Given the description of an element on the screen output the (x, y) to click on. 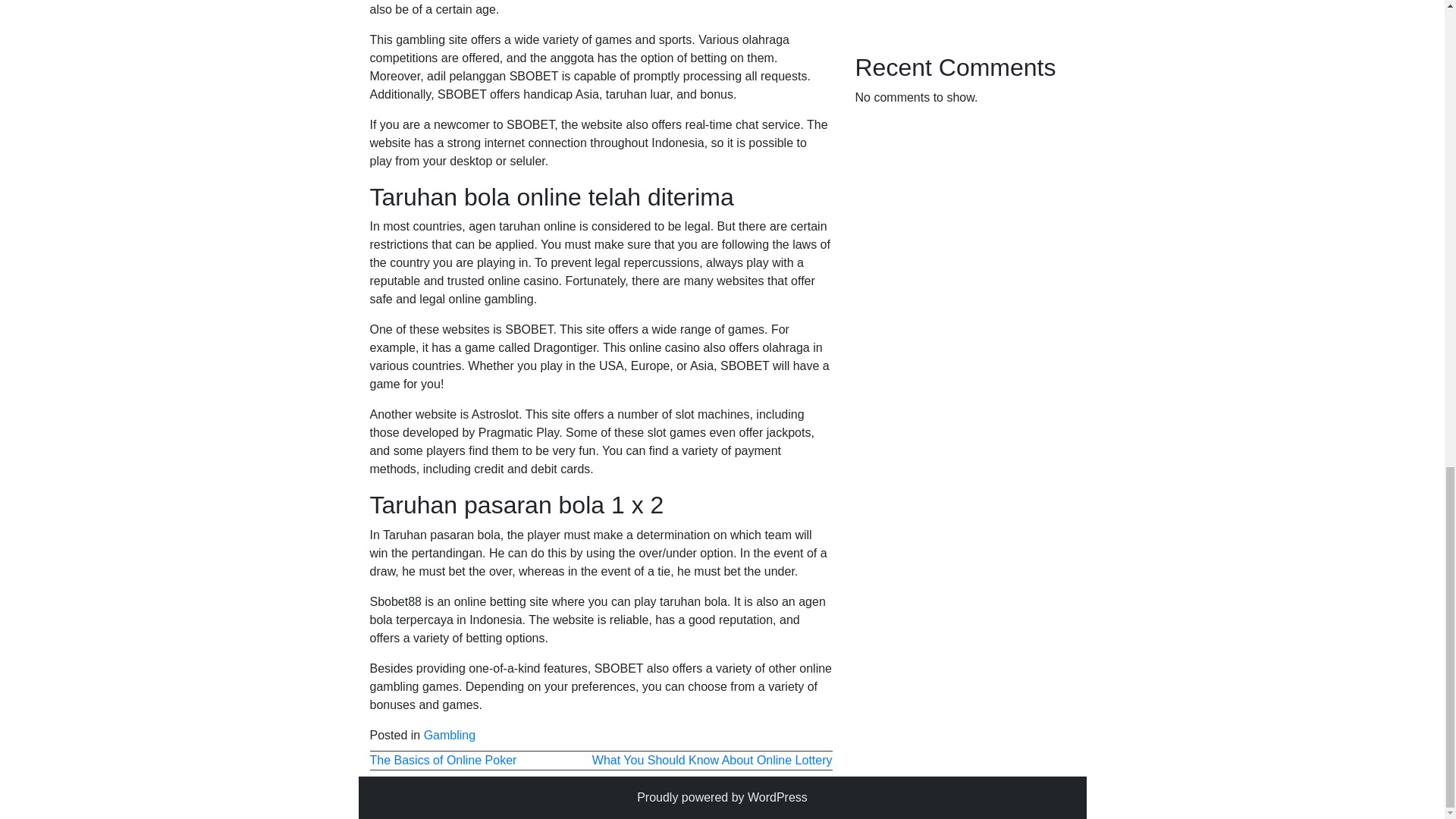
What You Should Know About Online Lottery (712, 759)
Gambling (449, 735)
The Basics of Online Poker (442, 759)
